Given the description of an element on the screen output the (x, y) to click on. 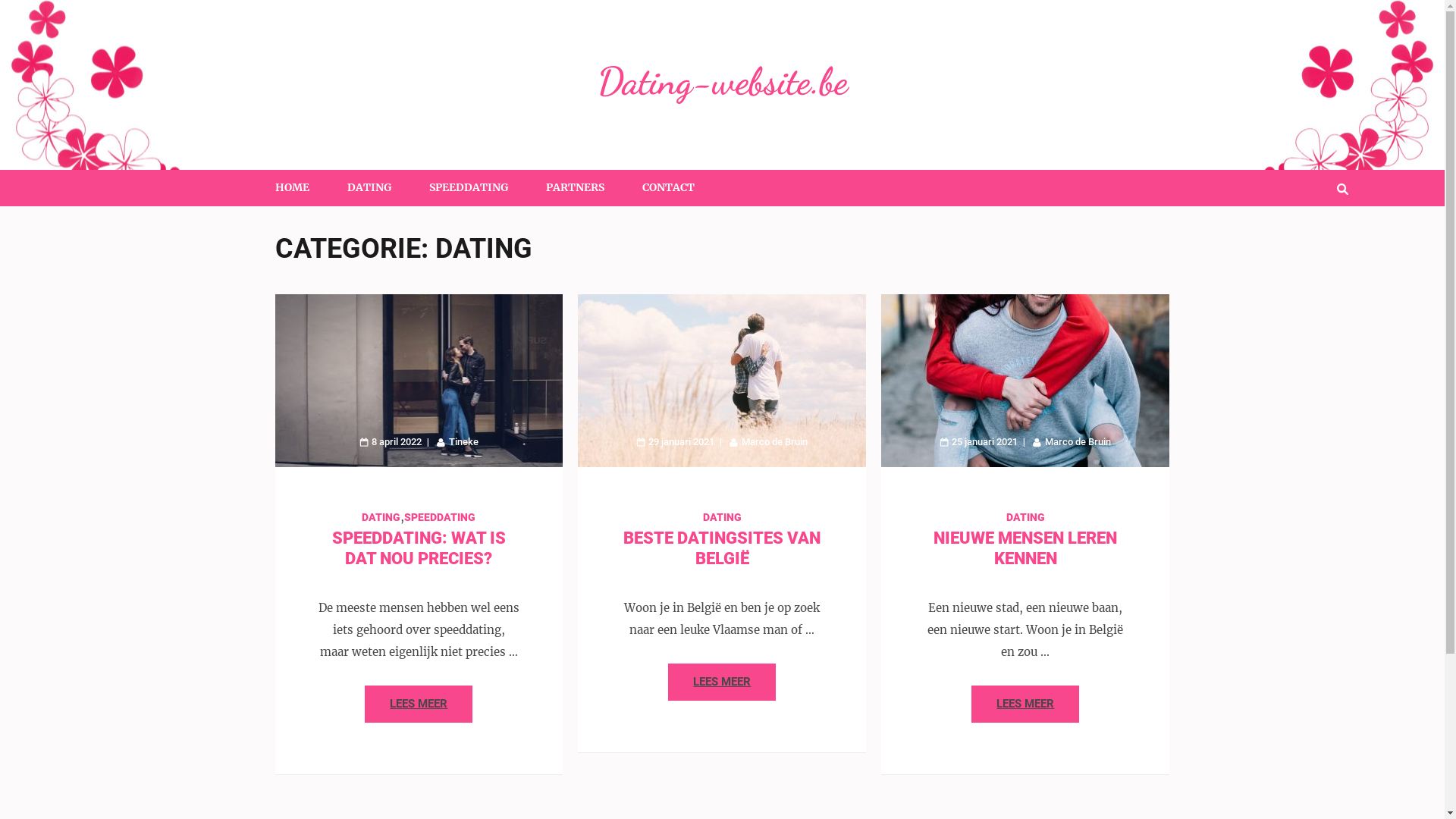
SPEEDDATING Element type: text (468, 187)
HOME Element type: text (291, 187)
LEES MEER Element type: text (721, 681)
SPEEDDATING: WAT IS DAT NOU PRECIES? Element type: text (418, 547)
DATING Element type: text (1025, 517)
Marco de Bruin Element type: text (1071, 441)
Tineke Element type: text (457, 441)
DATING Element type: text (380, 517)
8 april 2022 Element type: text (390, 441)
Dating-website.be Element type: text (722, 80)
DATING Element type: text (721, 517)
25 januari 2021 Element type: text (978, 441)
Marco de Bruin Element type: text (768, 441)
DATING Element type: text (369, 187)
PARTNERS Element type: text (575, 187)
SPEEDDATING Element type: text (439, 517)
NIEUWE MENSEN LEREN KENNEN Element type: text (1025, 547)
LEES MEER Element type: text (1025, 703)
LEES MEER Element type: text (418, 703)
CONTACT Element type: text (667, 187)
29 januari 2021 Element type: text (675, 441)
